Given the description of an element on the screen output the (x, y) to click on. 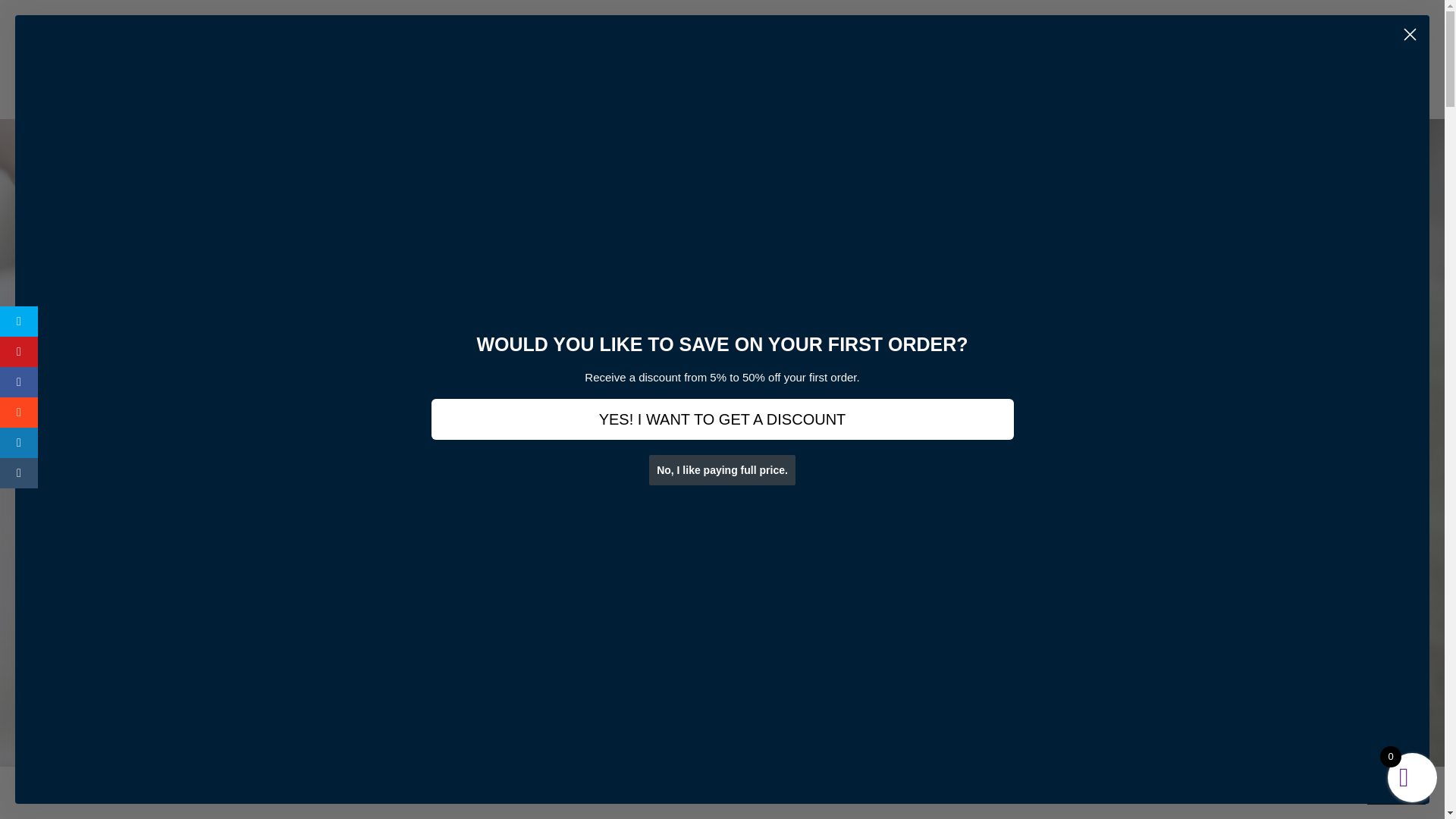
SKINCARE (456, 82)
REGENESIS (550, 82)
MY ACCOUNT (984, 82)
JOURNAL (895, 82)
GIFT CARD (731, 82)
Close dialog 1 (1409, 34)
THE BRAND (811, 82)
HAIR CARE (645, 82)
